Given the description of an element on the screen output the (x, y) to click on. 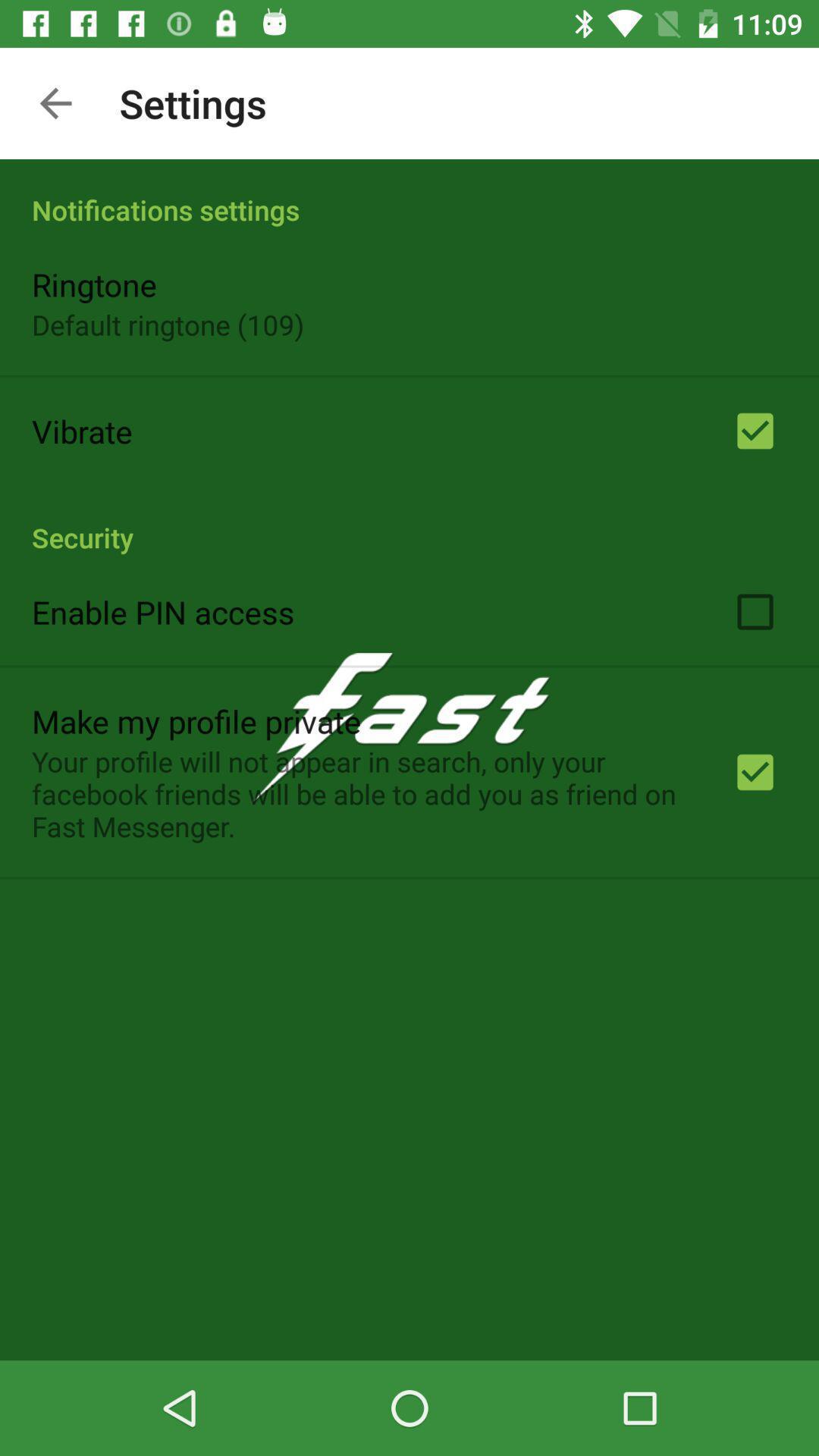
click the item below ringtone (167, 324)
